Given the description of an element on the screen output the (x, y) to click on. 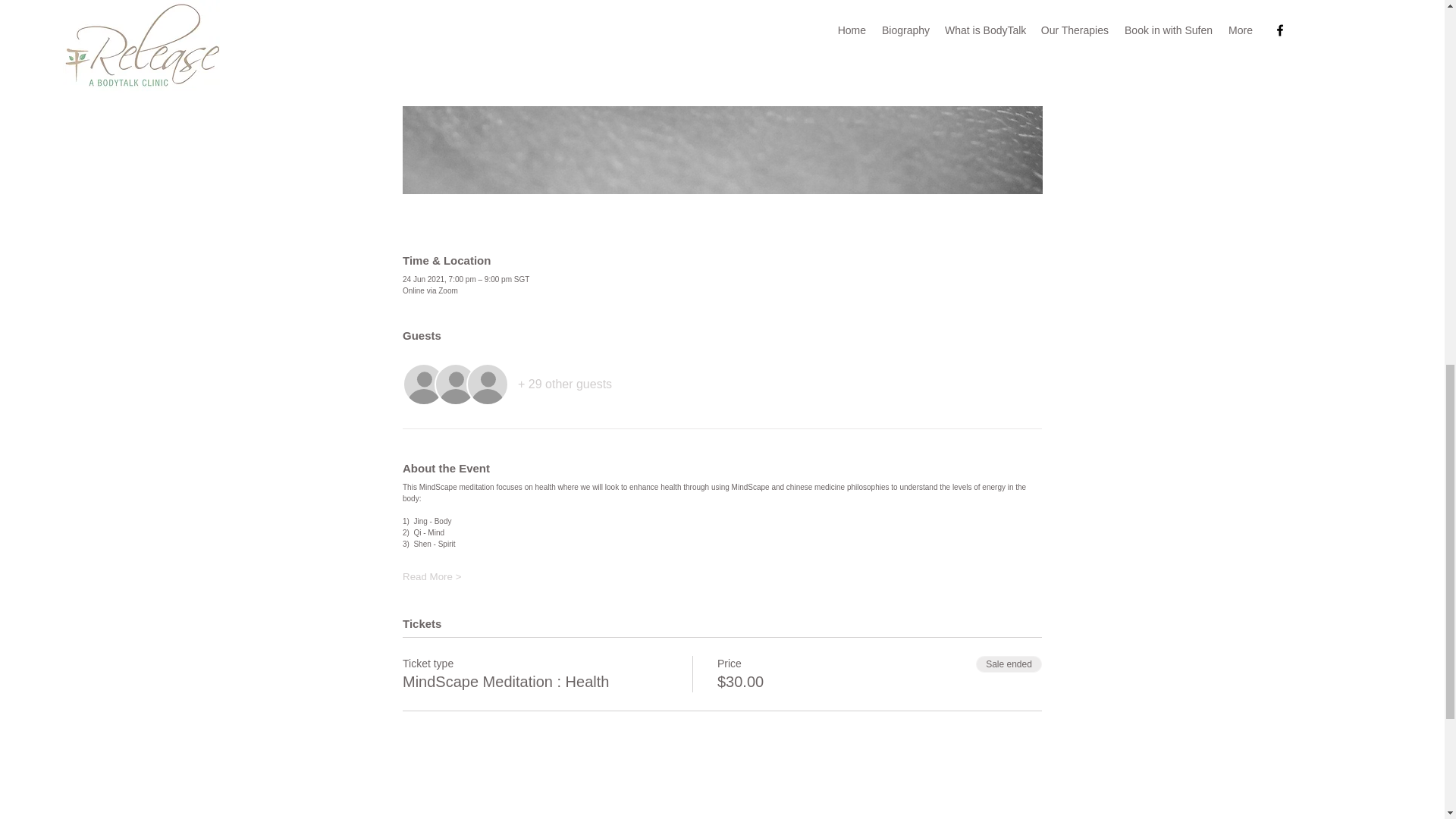
Checkout (914, 770)
